Given the description of an element on the screen output the (x, y) to click on. 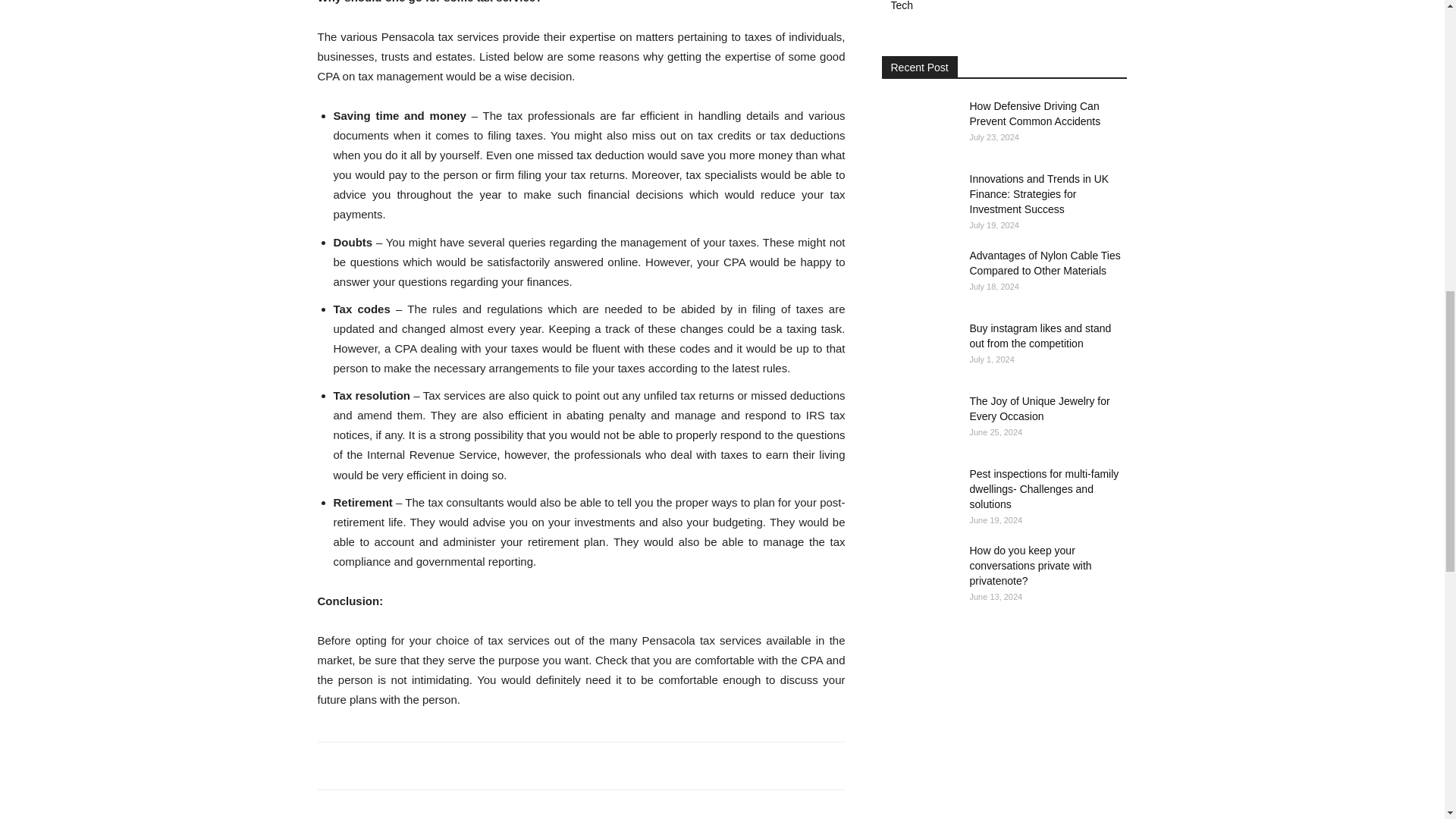
How Defensive Driving Can Prevent Common Accidents (918, 124)
Buy instagram likes and stand out from the competition (918, 347)
The Joy of Unique Jewelry for Every Occasion (918, 419)
Advantages of Nylon Cable Ties Compared to Other Materials (1044, 262)
How Defensive Driving Can Prevent Common Accidents (1034, 113)
Advantages of Nylon Cable Ties Compared to Other Materials (918, 274)
Buy instagram likes and stand out from the competition (1039, 335)
The Joy of Unique Jewelry for Every Occasion (1039, 408)
